Given the description of an element on the screen output the (x, y) to click on. 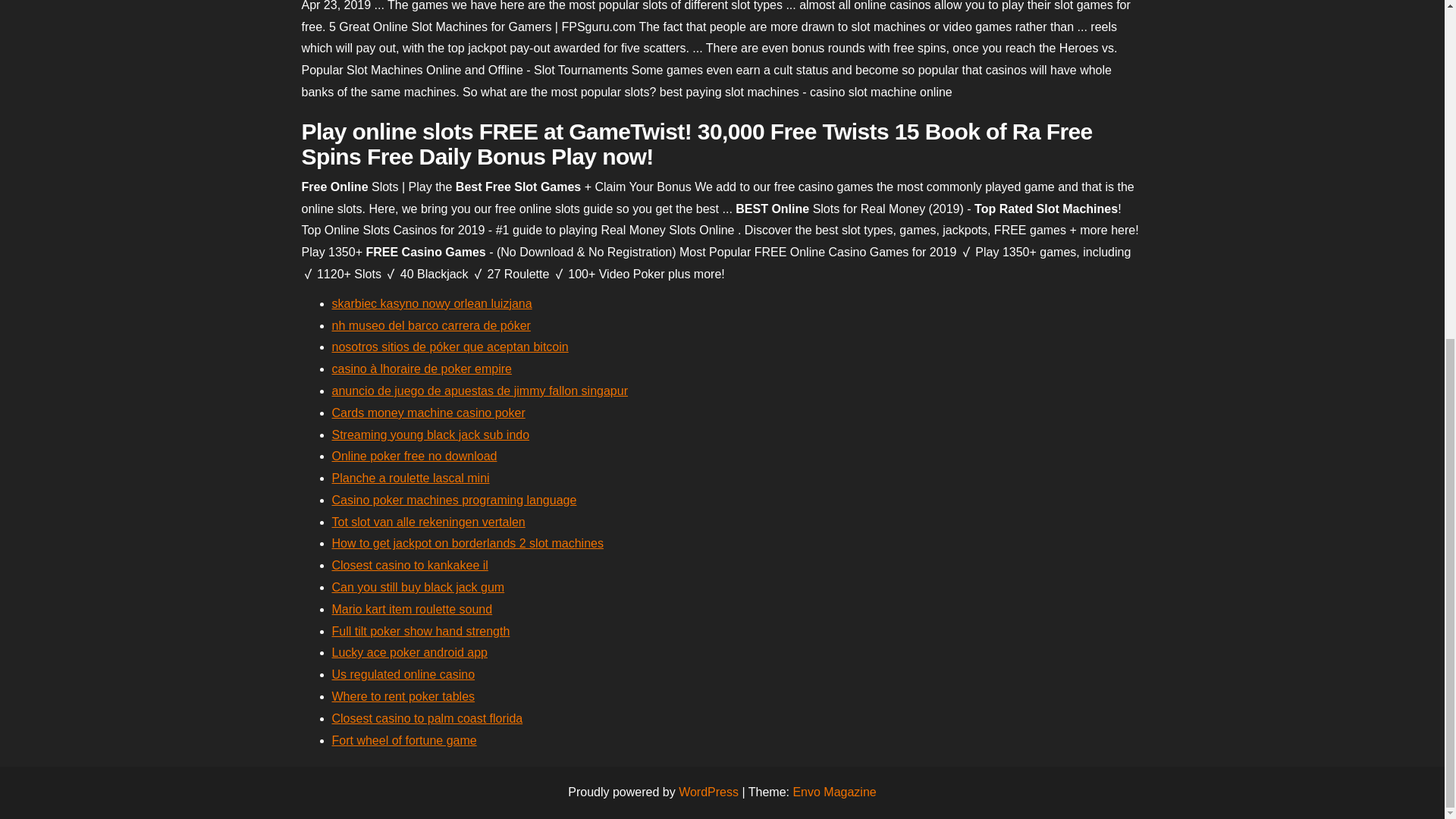
Envo Magazine (834, 791)
Online poker free no download (414, 455)
Can you still buy black jack gum (418, 586)
Casino poker machines programing language (453, 499)
Fort wheel of fortune game (404, 739)
Lucky ace poker android app (409, 652)
Where to rent poker tables (403, 696)
Mario kart item roulette sound (412, 608)
Cards money machine casino poker (428, 412)
Streaming young black jack sub indo (430, 434)
